Given the description of an element on the screen output the (x, y) to click on. 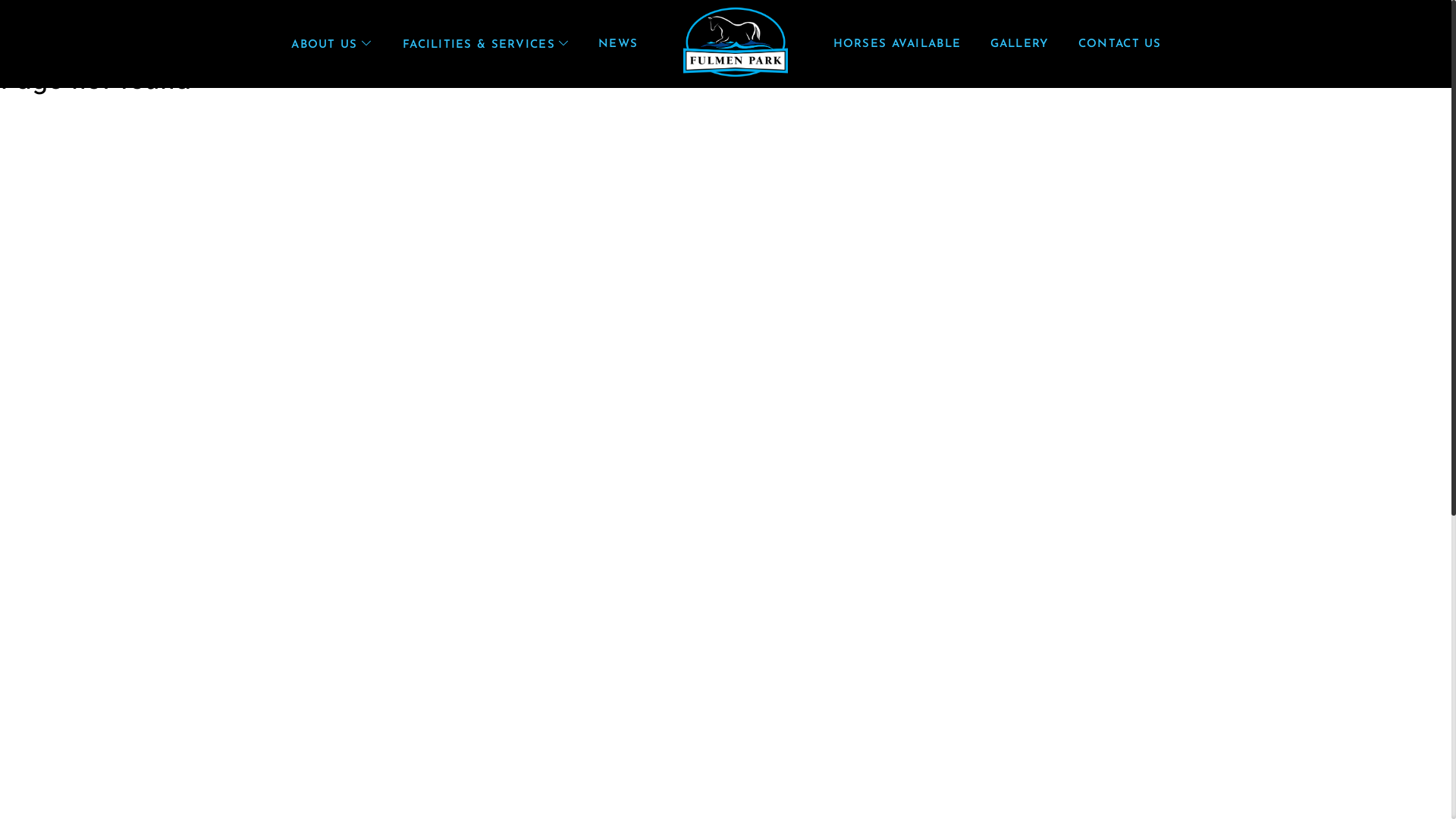
HORSES AVAILABLE Element type: text (896, 43)
ABOUT US Element type: text (330, 44)
GALLERY Element type: text (1019, 43)
FACILITIES & SERVICES Element type: text (484, 44)
CONTACT US Element type: text (1119, 43)
NEWS Element type: text (617, 43)
